Given the description of an element on the screen output the (x, y) to click on. 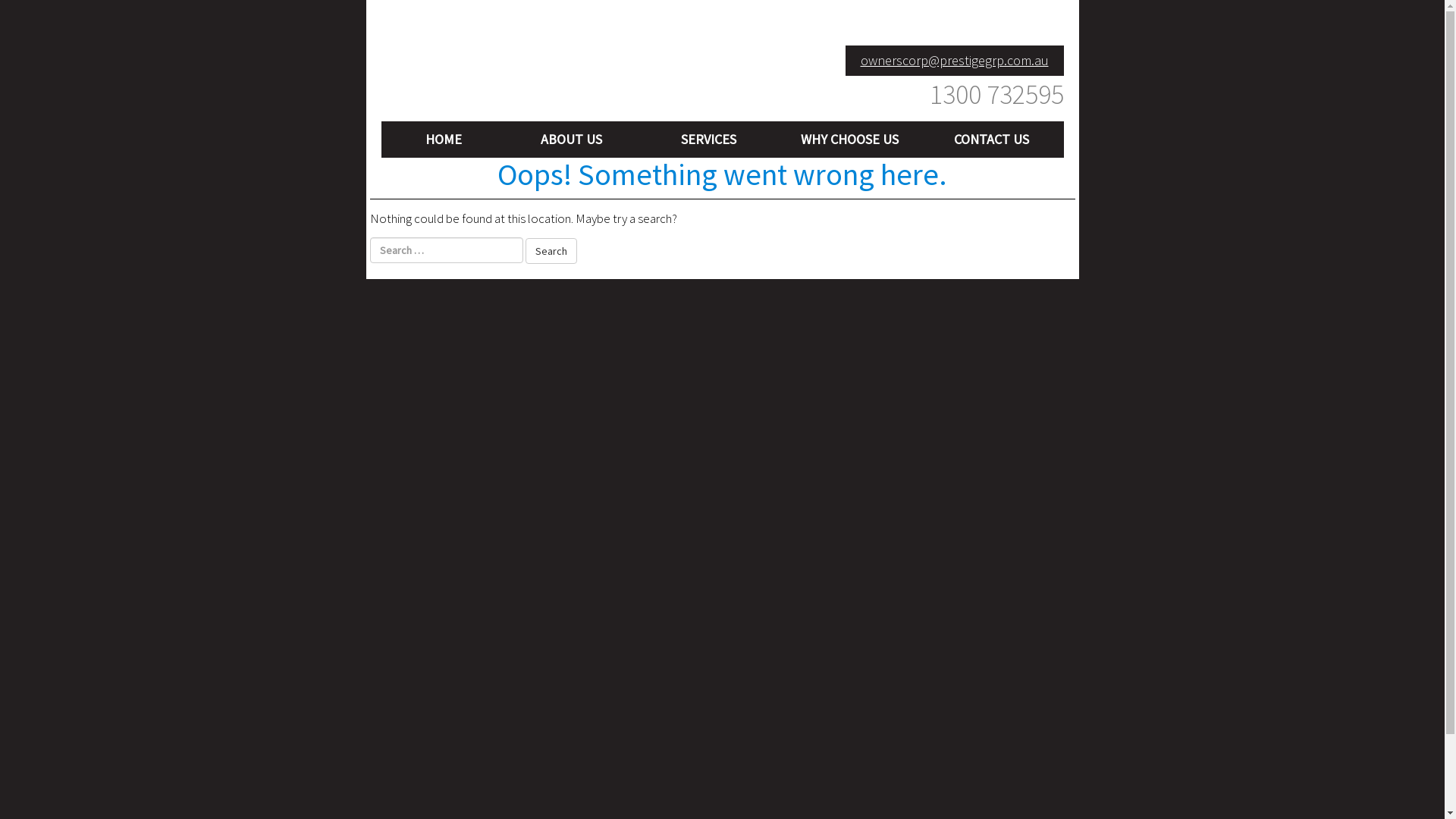
Search for: Element type: hover (446, 250)
HOME Element type: text (442, 139)
1300 732595 Element type: text (953, 94)
SERVICES Element type: text (709, 139)
WHY CHOOSE US Element type: text (850, 139)
Search Element type: text (550, 250)
ABOUT US Element type: text (571, 139)
CONTACT US Element type: text (991, 139)
ownerscorp@prestigegrp.com.au Element type: text (953, 60)
